Given the description of an element on the screen output the (x, y) to click on. 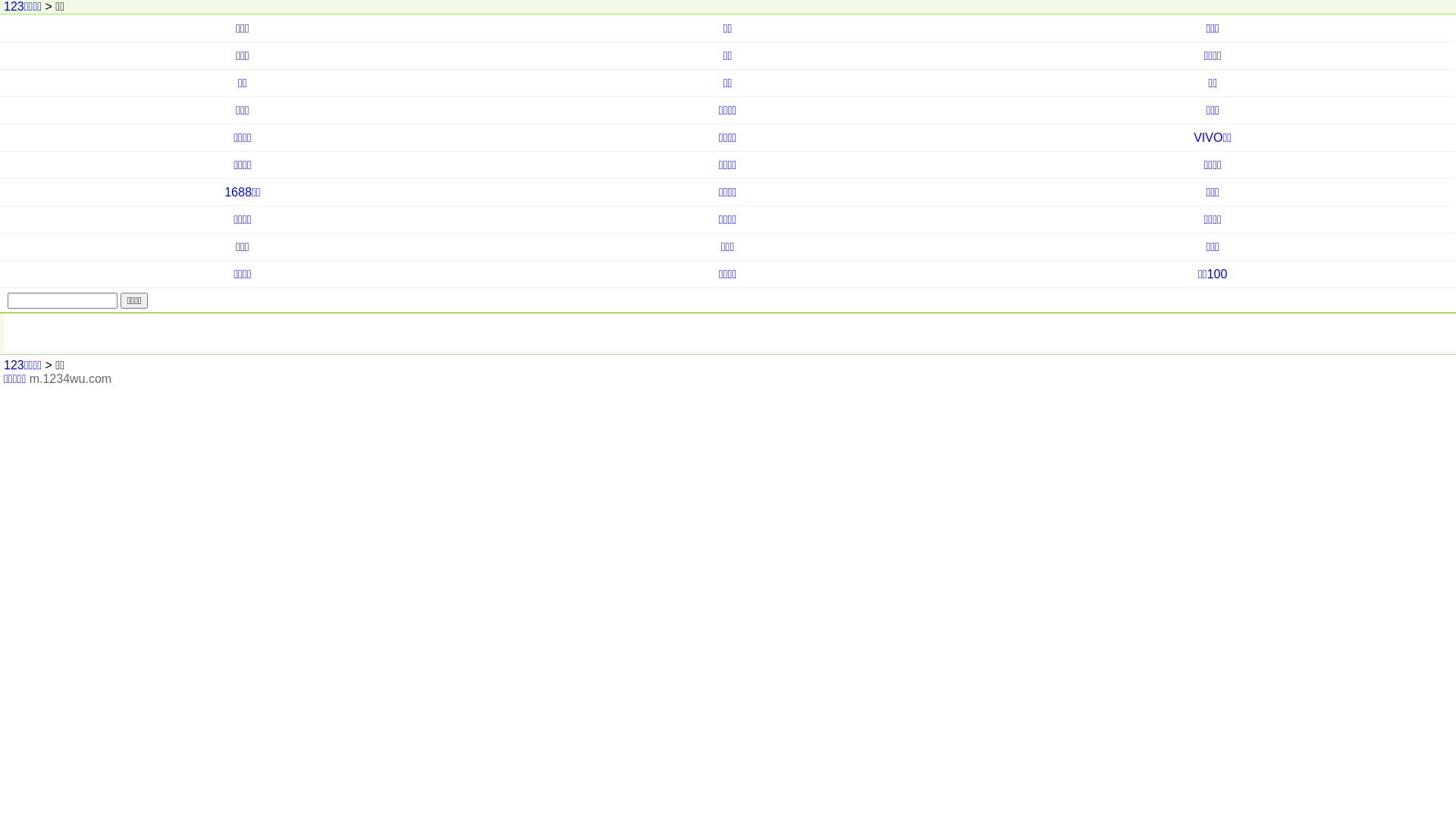
m.1234wu.com Element type: text (70, 378)
